Given the description of an element on the screen output the (x, y) to click on. 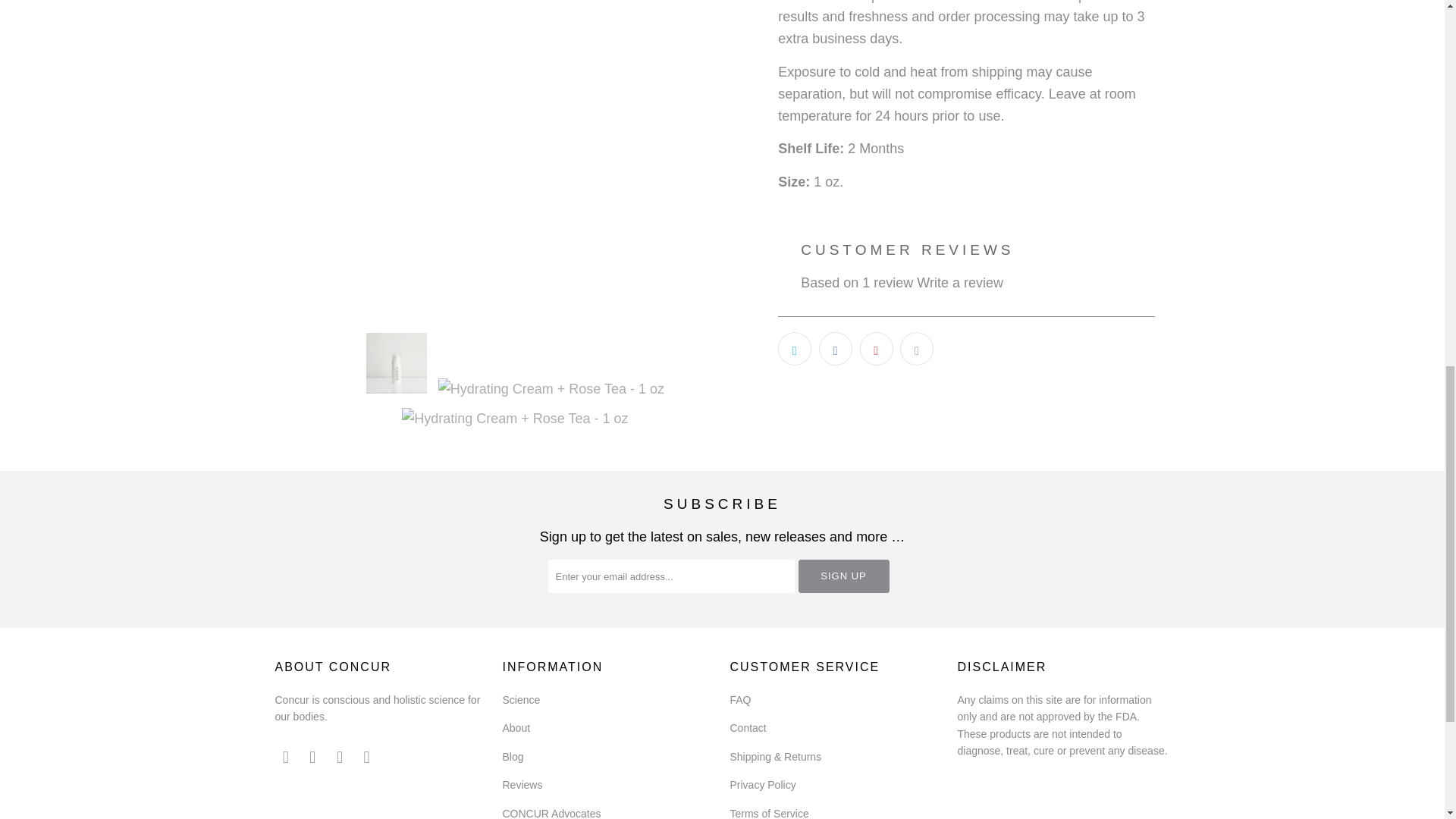
CONCUR on Facebook (312, 757)
Write a review (960, 282)
Share this on Twitter (793, 348)
Share this on Facebook (834, 348)
Share this on Pinterest (876, 348)
Email this to a friend (916, 348)
CONCUR on Twitter (286, 757)
Sign Up (842, 575)
